Given the description of an element on the screen output the (x, y) to click on. 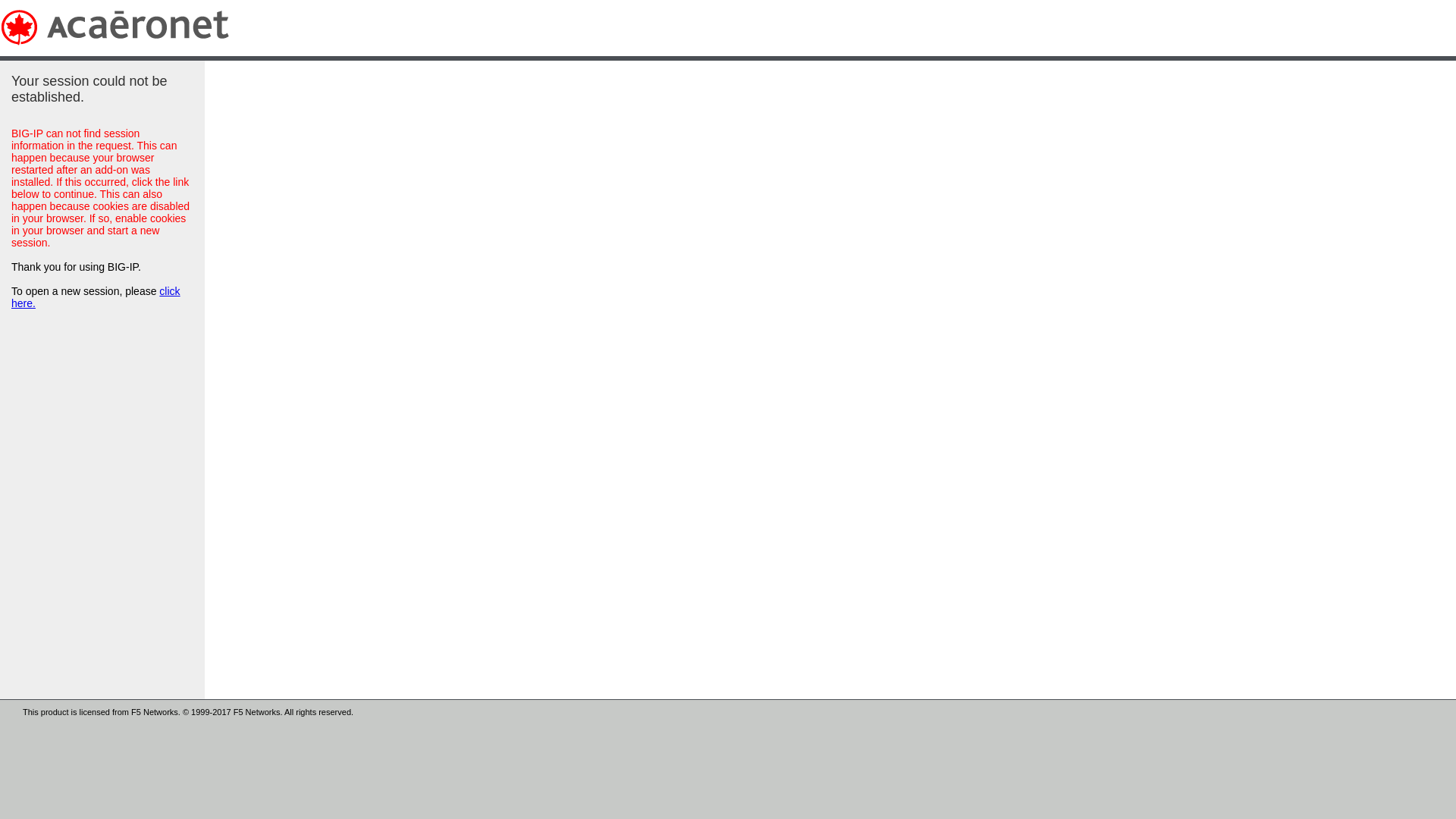
click here. Element type: text (95, 297)
